Given the description of an element on the screen output the (x, y) to click on. 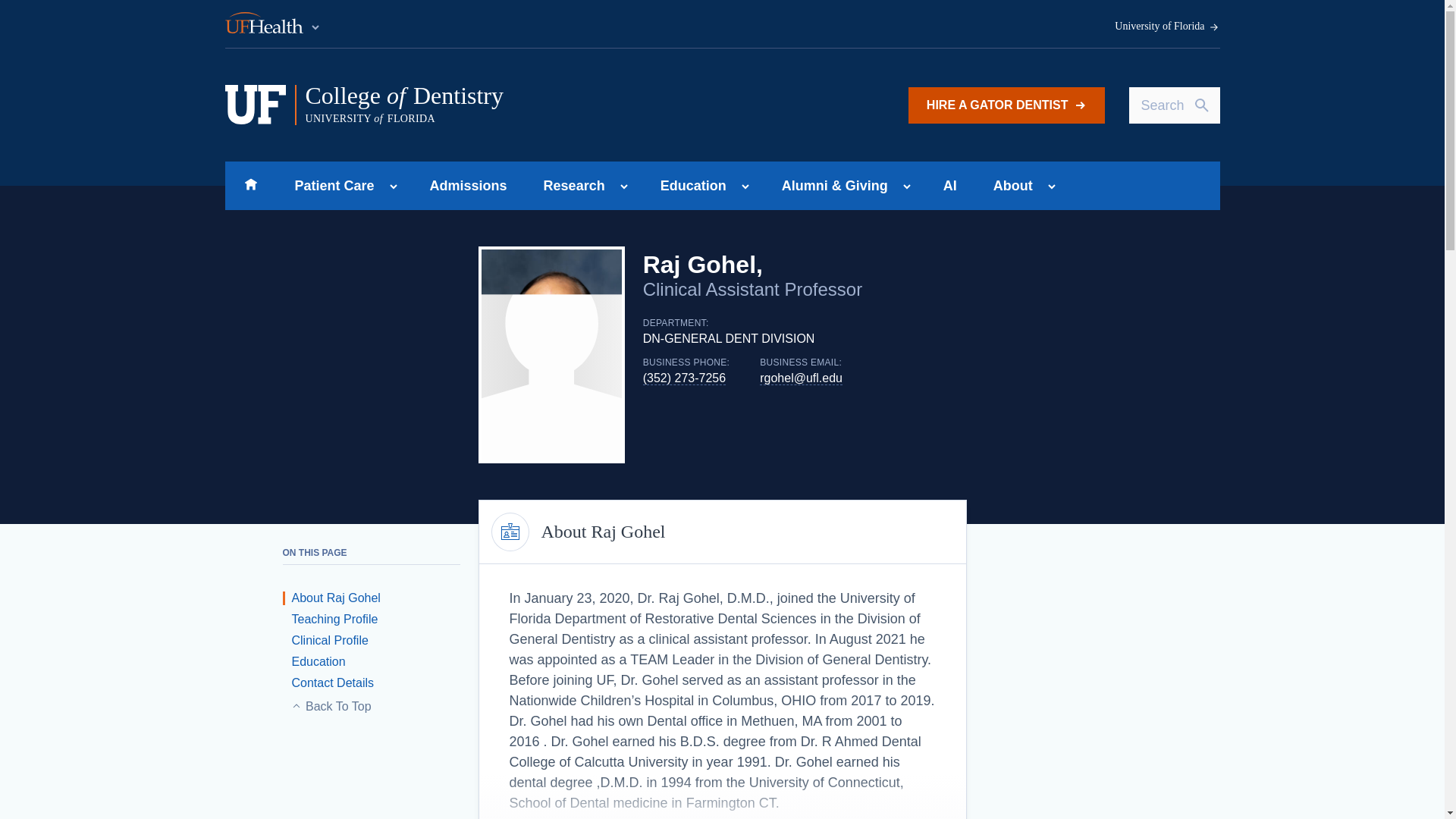
Patient Care (329, 185)
Show submenu for Patient Care (392, 187)
Show submenu for Research (623, 187)
Research (569, 185)
University of Florida (1167, 26)
UF Health (272, 24)
Admissions (468, 185)
Home (250, 185)
HIRE A GATOR DENTIST (515, 105)
